Given the description of an element on the screen output the (x, y) to click on. 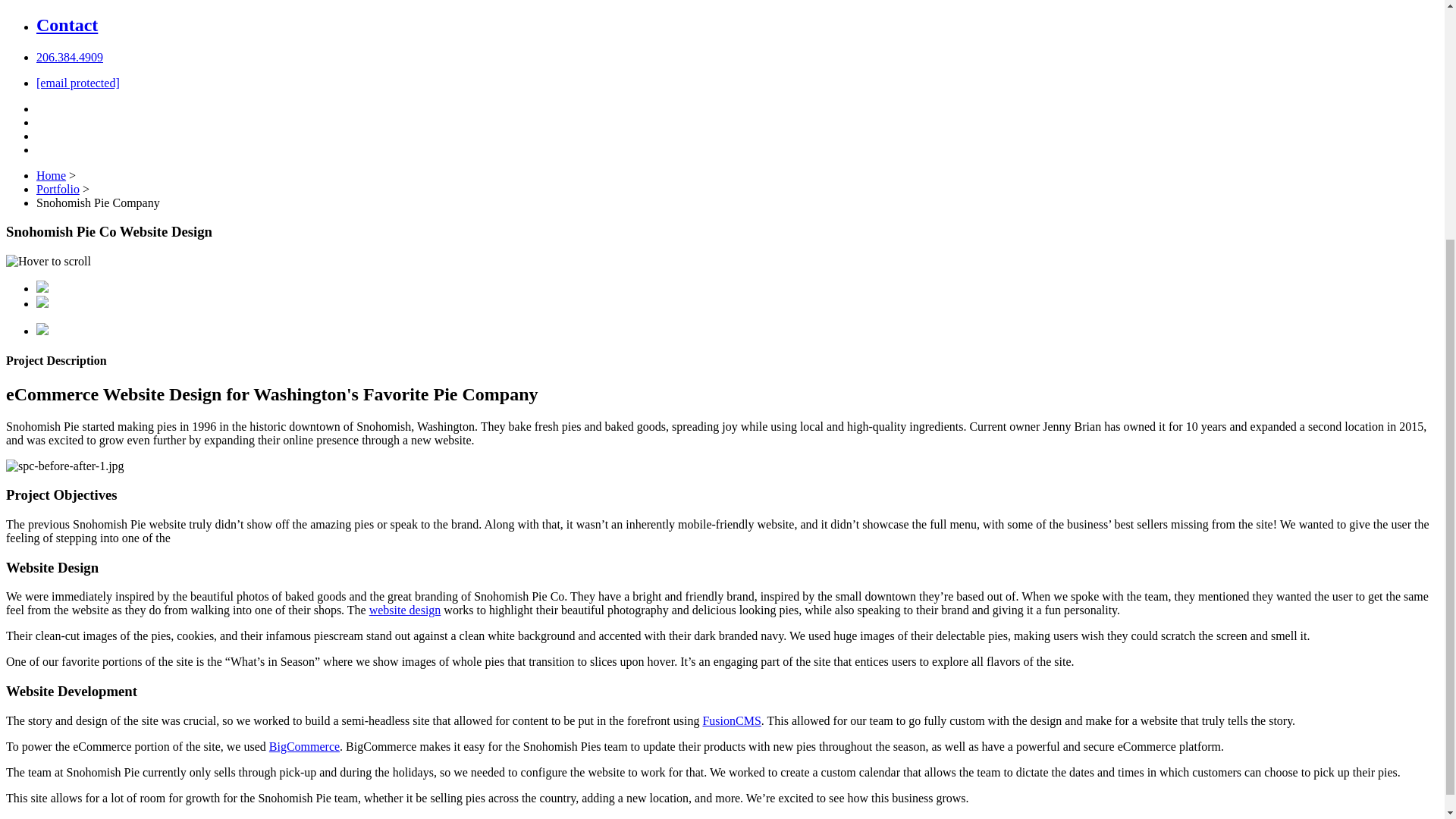
spc-before-after-1.jpg (64, 466)
206.384.4909 (69, 56)
FusionCMS (730, 720)
website design (405, 609)
BigCommerce (304, 746)
Portfolio (58, 188)
Home (50, 174)
